Given the description of an element on the screen output the (x, y) to click on. 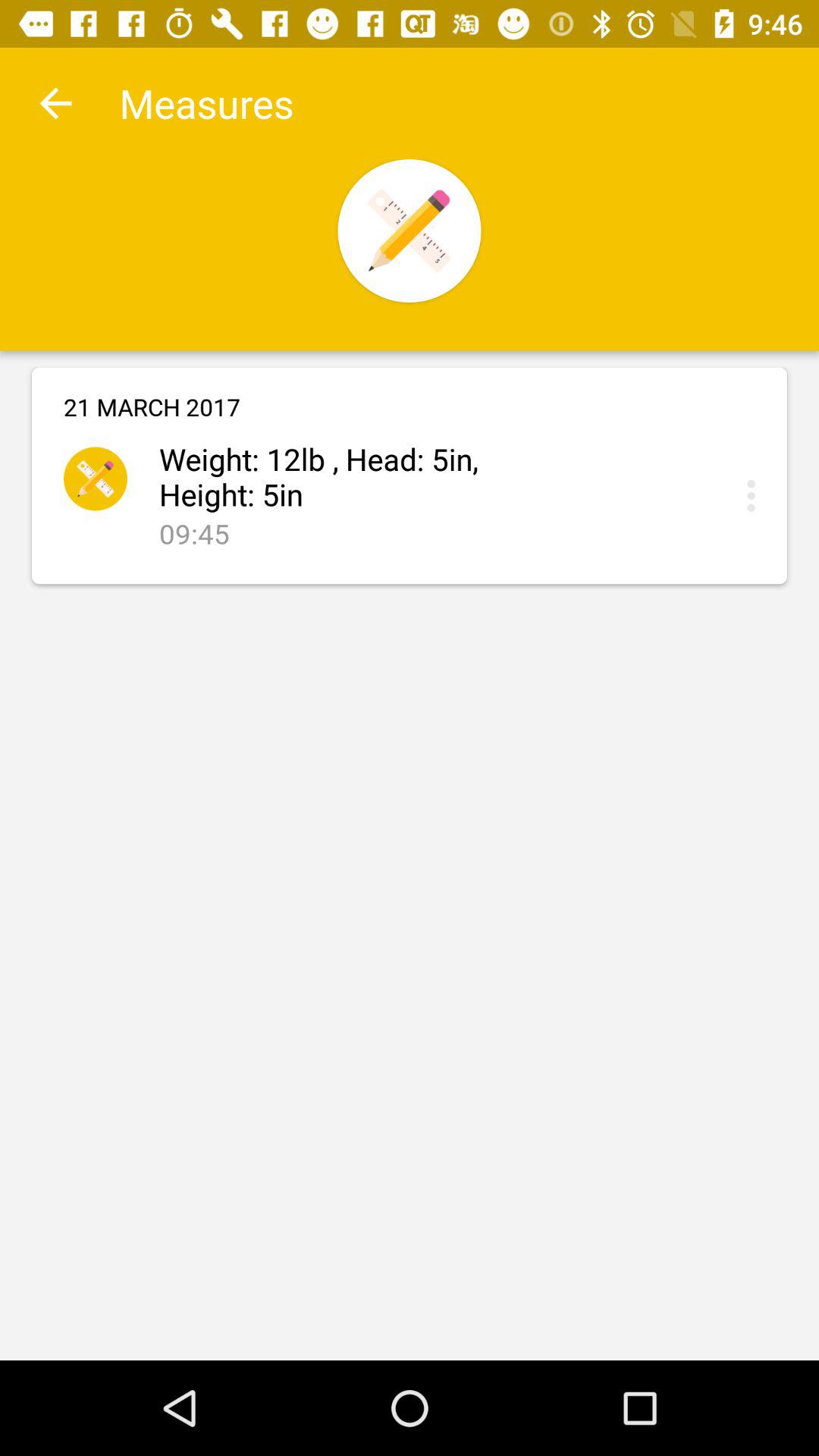
edit (755, 495)
